Given the description of an element on the screen output the (x, y) to click on. 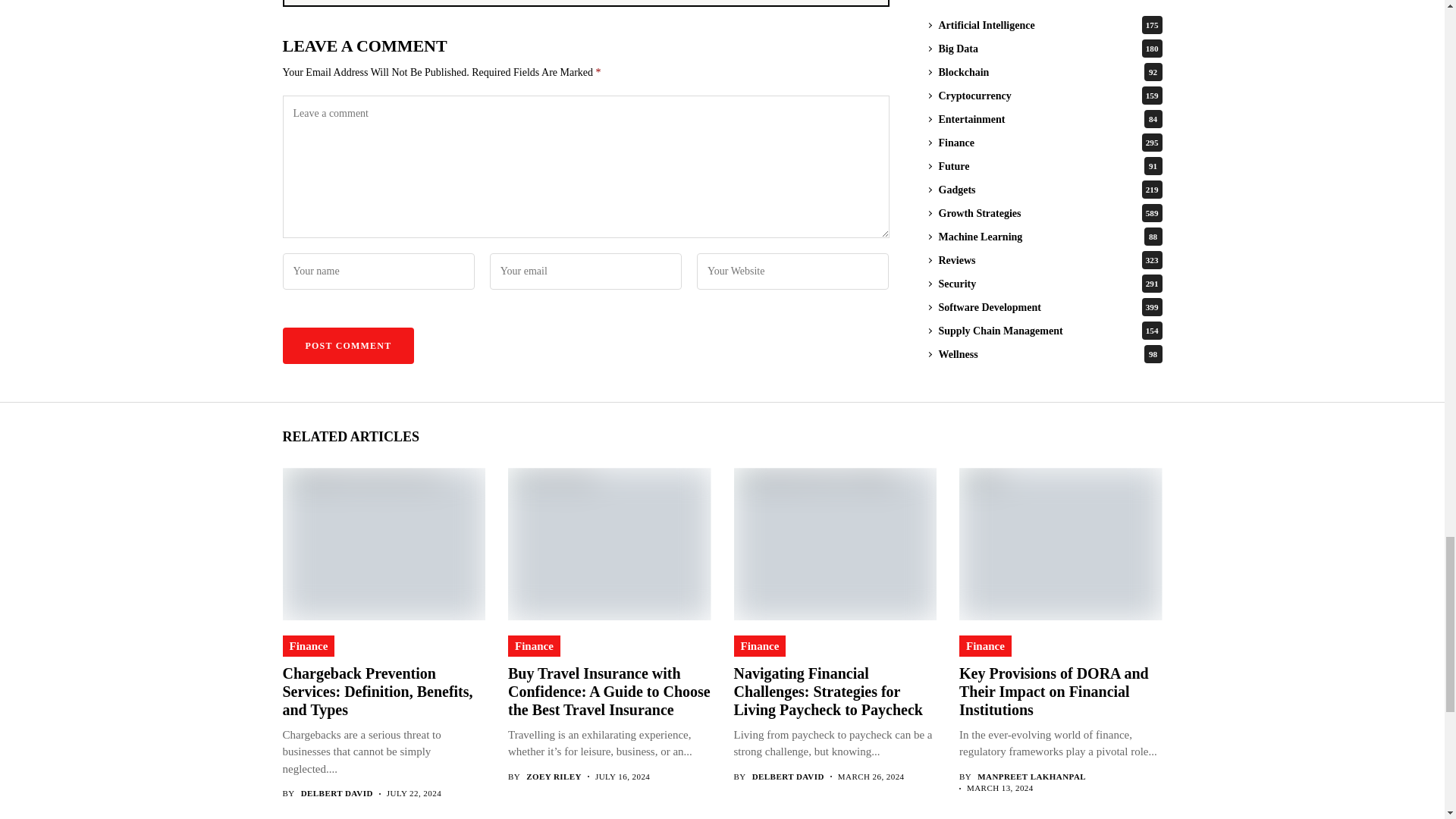
Posts by Manpreet Lakhanpal (1031, 777)
Posts by Delbert David (788, 777)
Posts by Delbert David (336, 793)
Post Comment (347, 345)
Posts by Zoey Riley (552, 777)
